Given the description of an element on the screen output the (x, y) to click on. 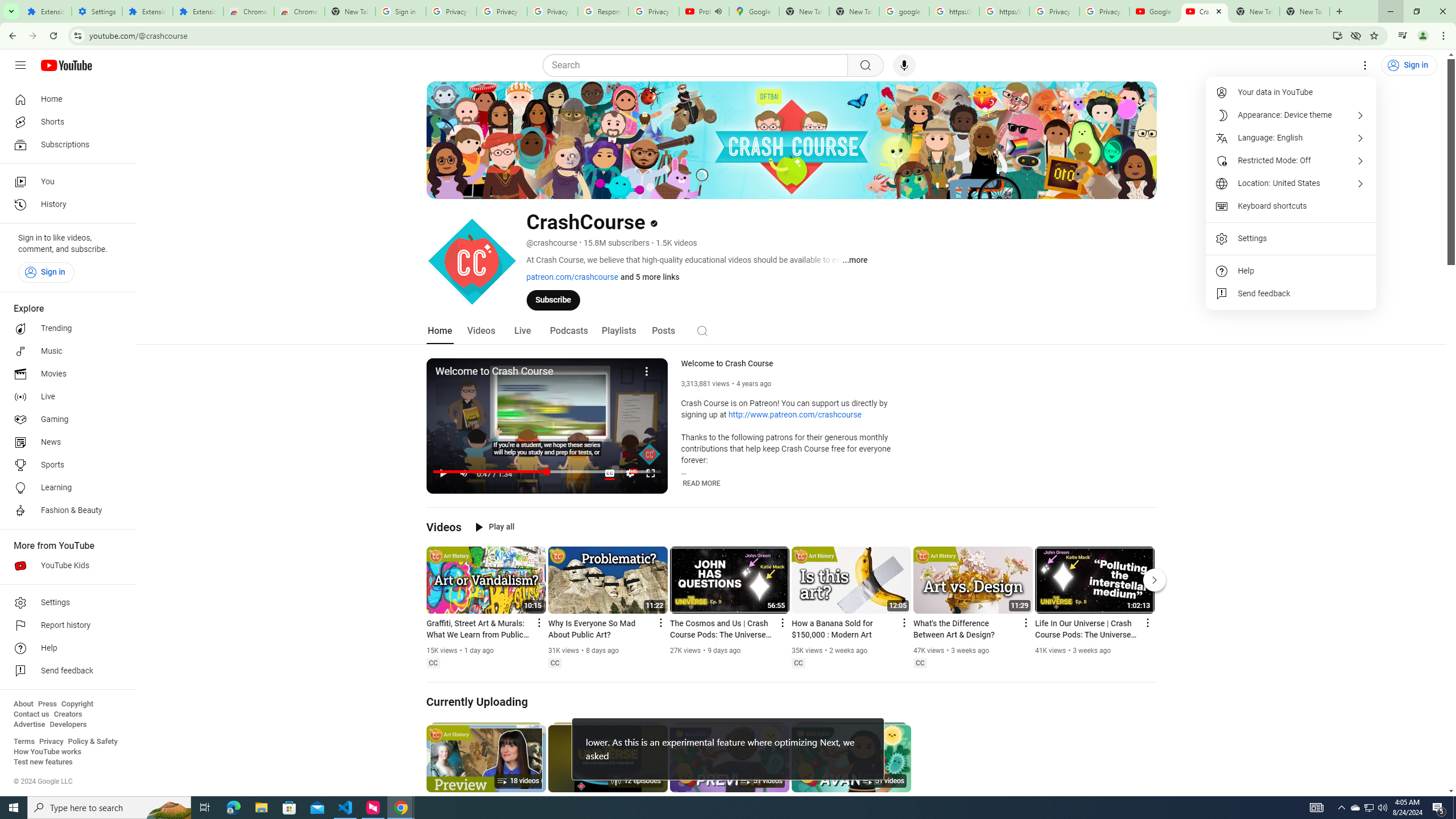
Videos (481, 330)
Home (440, 330)
READ MORE (701, 482)
Gaming (64, 419)
Chrome Web Store - Themes (299, 11)
Test new features (42, 761)
Restricted Mode: Off (1291, 160)
Extensions (146, 11)
READ MORE (701, 483)
Action menu (1146, 622)
